Given the description of an element on the screen output the (x, y) to click on. 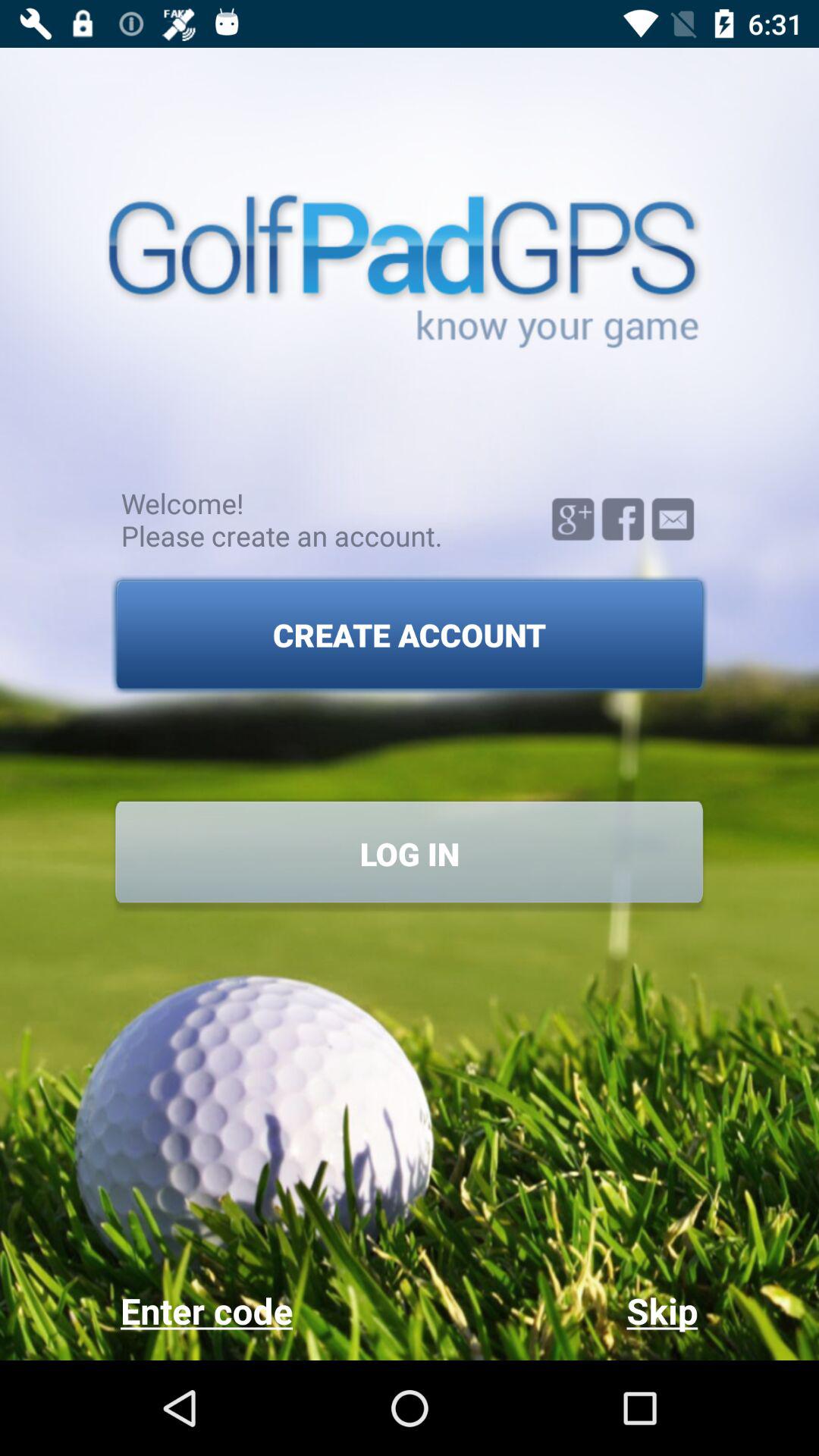
turn off the log in (409, 853)
